Given the description of an element on the screen output the (x, y) to click on. 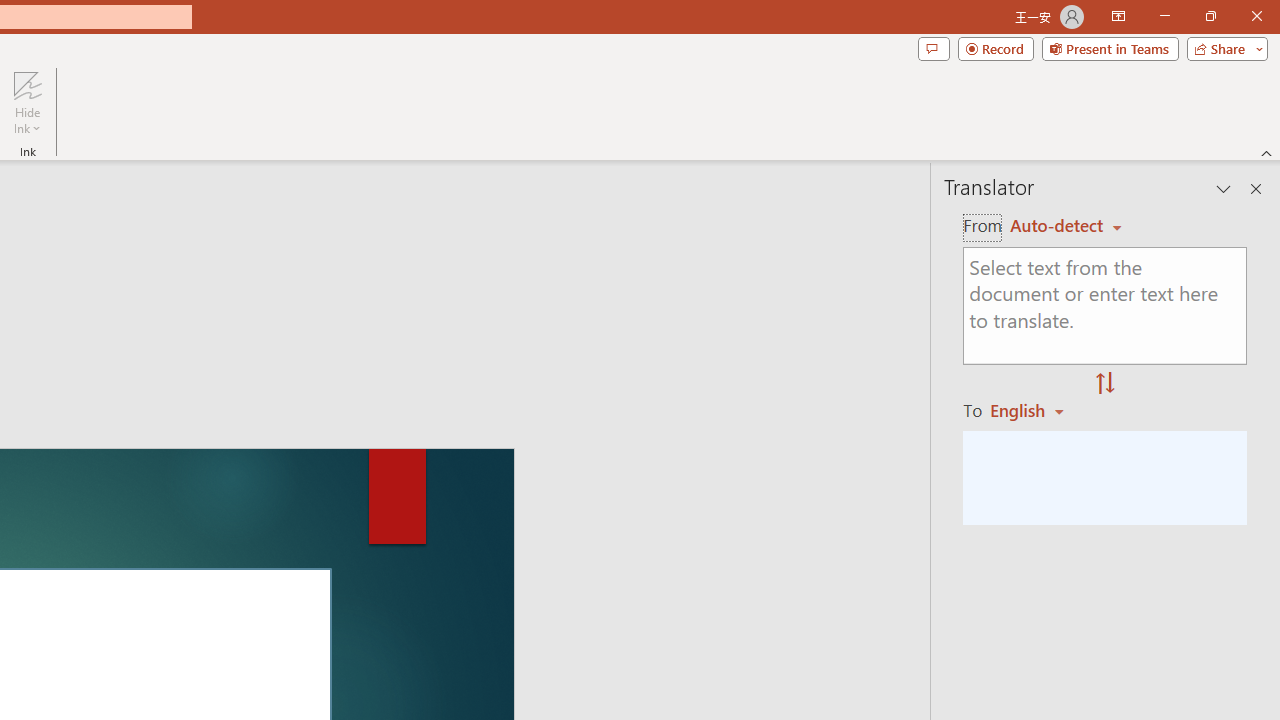
Swap "from" and "to" languages. (1105, 383)
English (1033, 409)
